Given the description of an element on the screen output the (x, y) to click on. 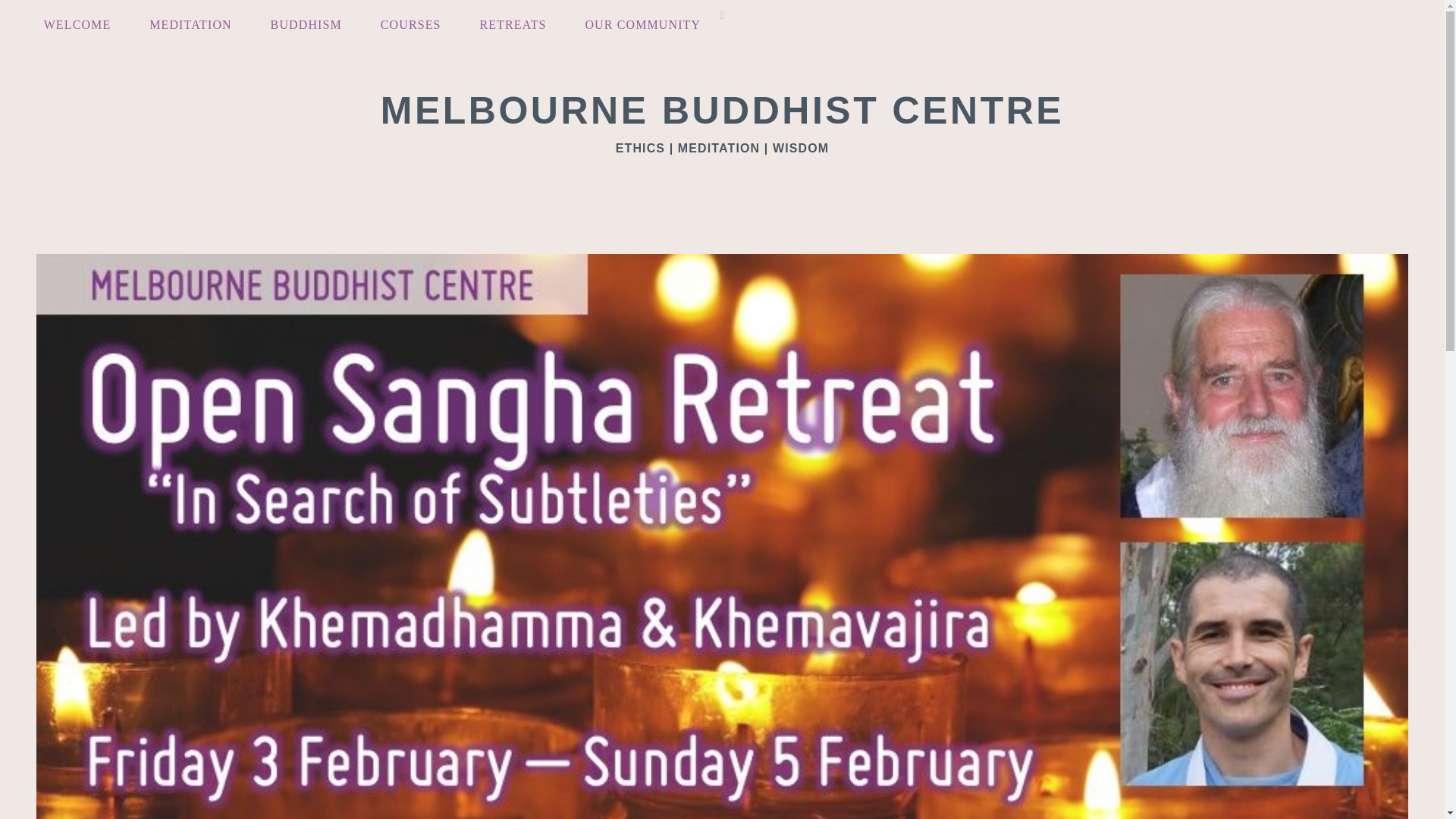
WELCOME (77, 25)
COURSES (410, 25)
OUR COMMUNITY (641, 25)
BUDDHISM (306, 25)
MELBOURNE BUDDHIST CENTRE (722, 110)
RETREATS (512, 25)
MEDITATION (190, 25)
